Given the description of an element on the screen output the (x, y) to click on. 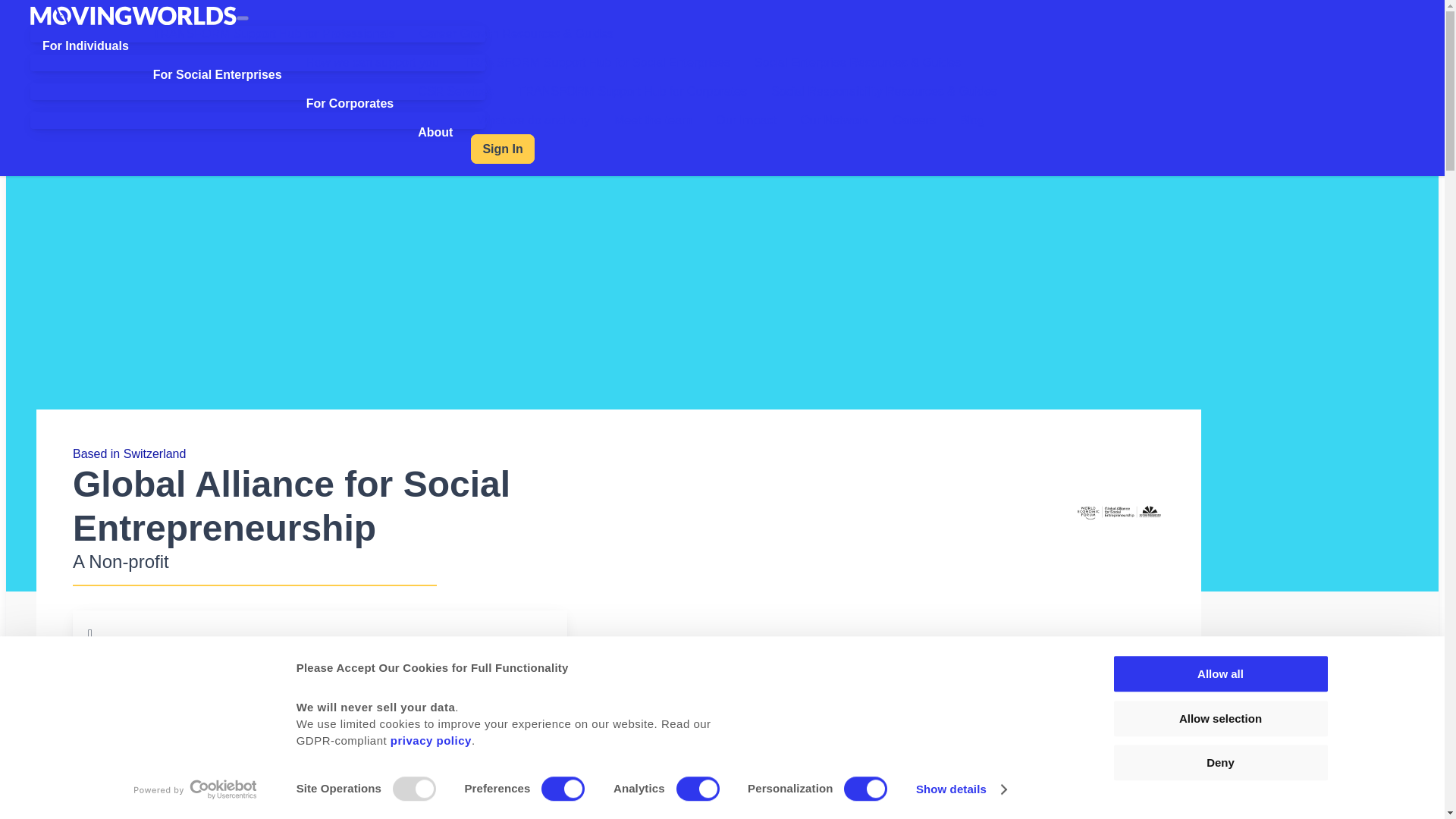
Show details (960, 789)
MovingWorlds Privacy Policy (430, 739)
privacy policy (430, 739)
